Given the description of an element on the screen output the (x, y) to click on. 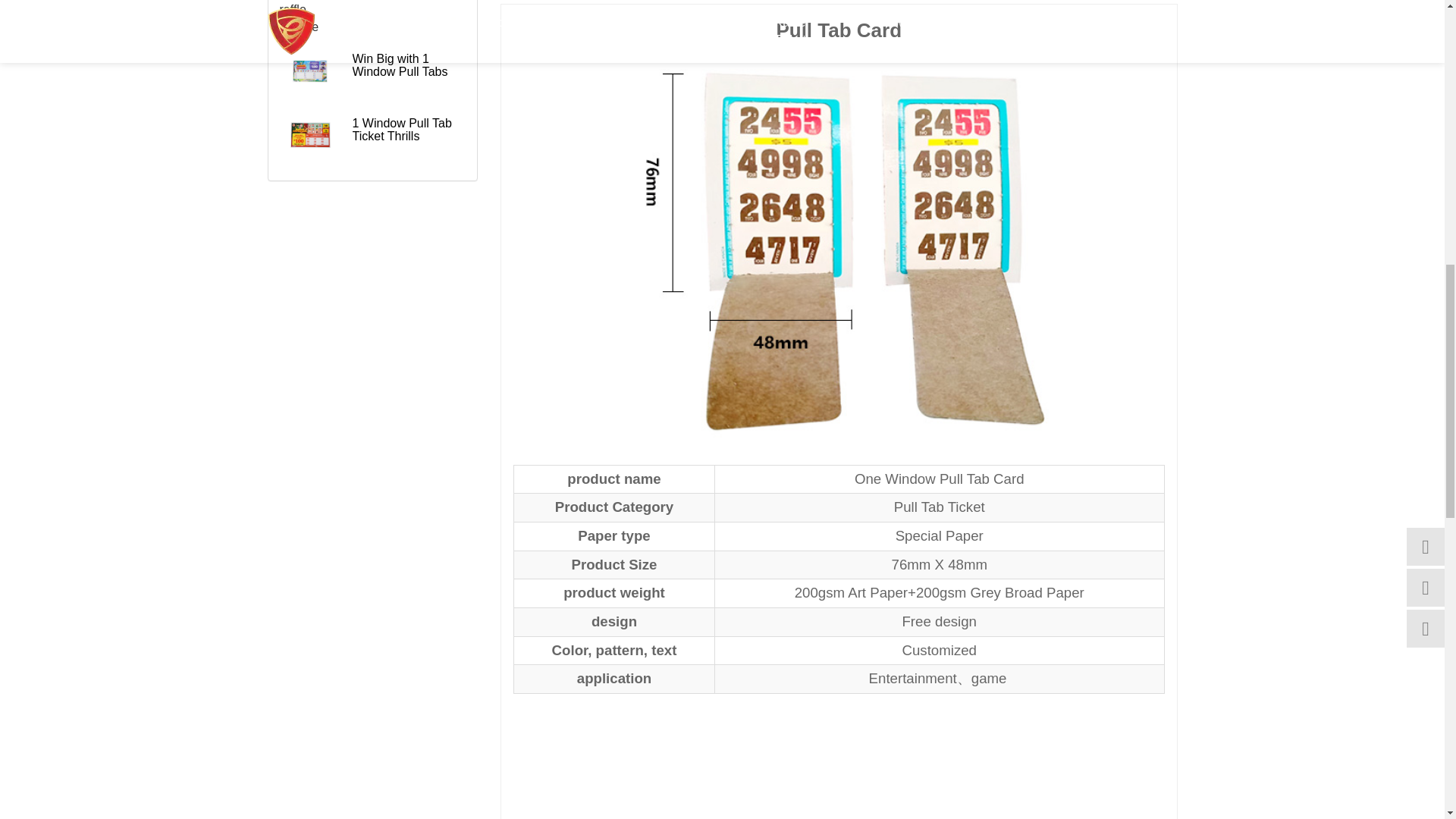
5 windows pull tab tickets raffle chance (309, 18)
Win Big with 1 Window Pull Tabs (309, 70)
1 Window Pull Tab Ticket Thrills (309, 134)
